Given the description of an element on the screen output the (x, y) to click on. 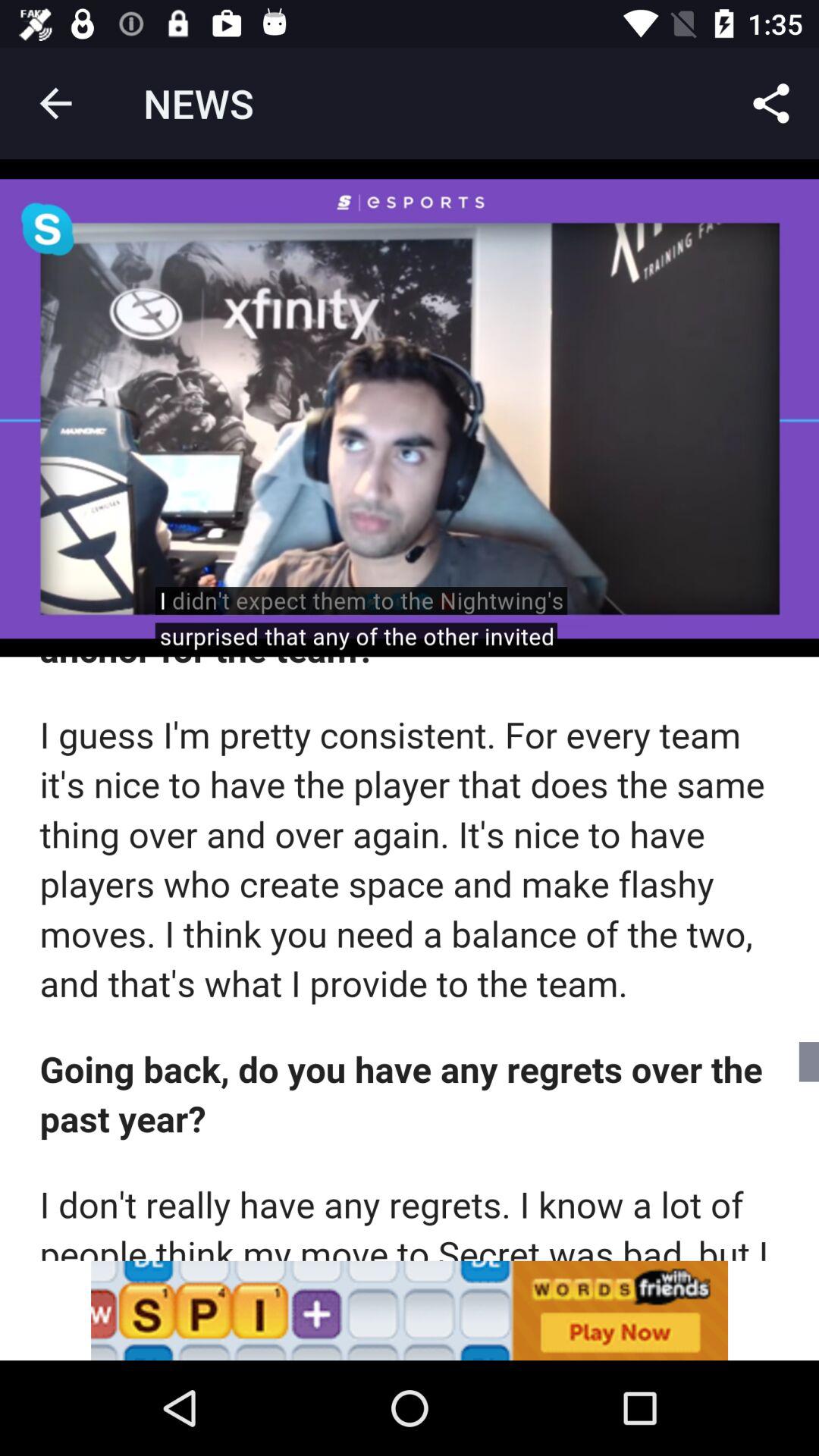
advertisement banner (409, 1310)
